Given the description of an element on the screen output the (x, y) to click on. 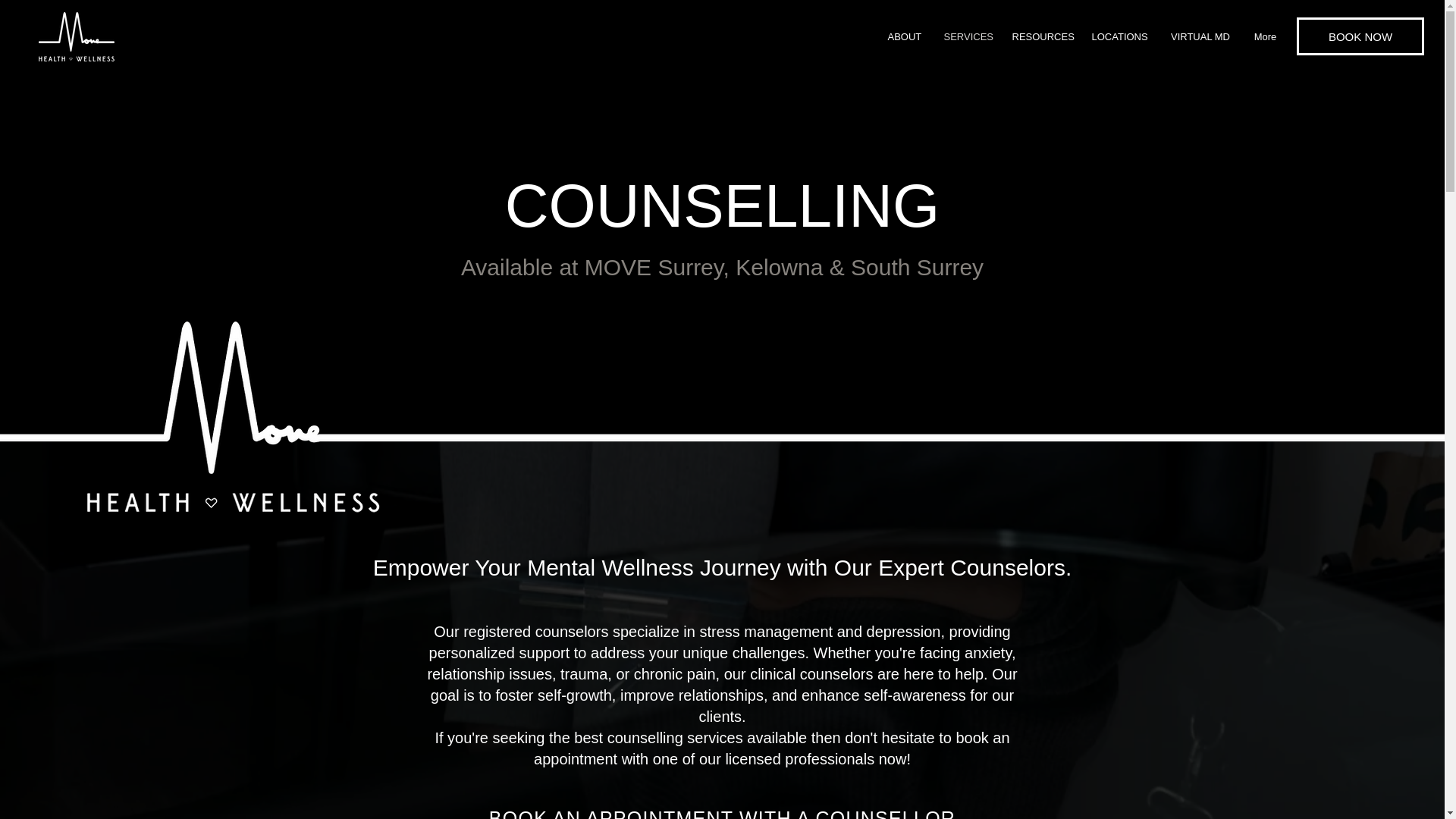
BOOK NOW (1360, 36)
SERVICES (967, 36)
LOCATIONS (1119, 36)
VIRTUAL MD (1199, 36)
ABOUT (904, 36)
